Given the description of an element on the screen output the (x, y) to click on. 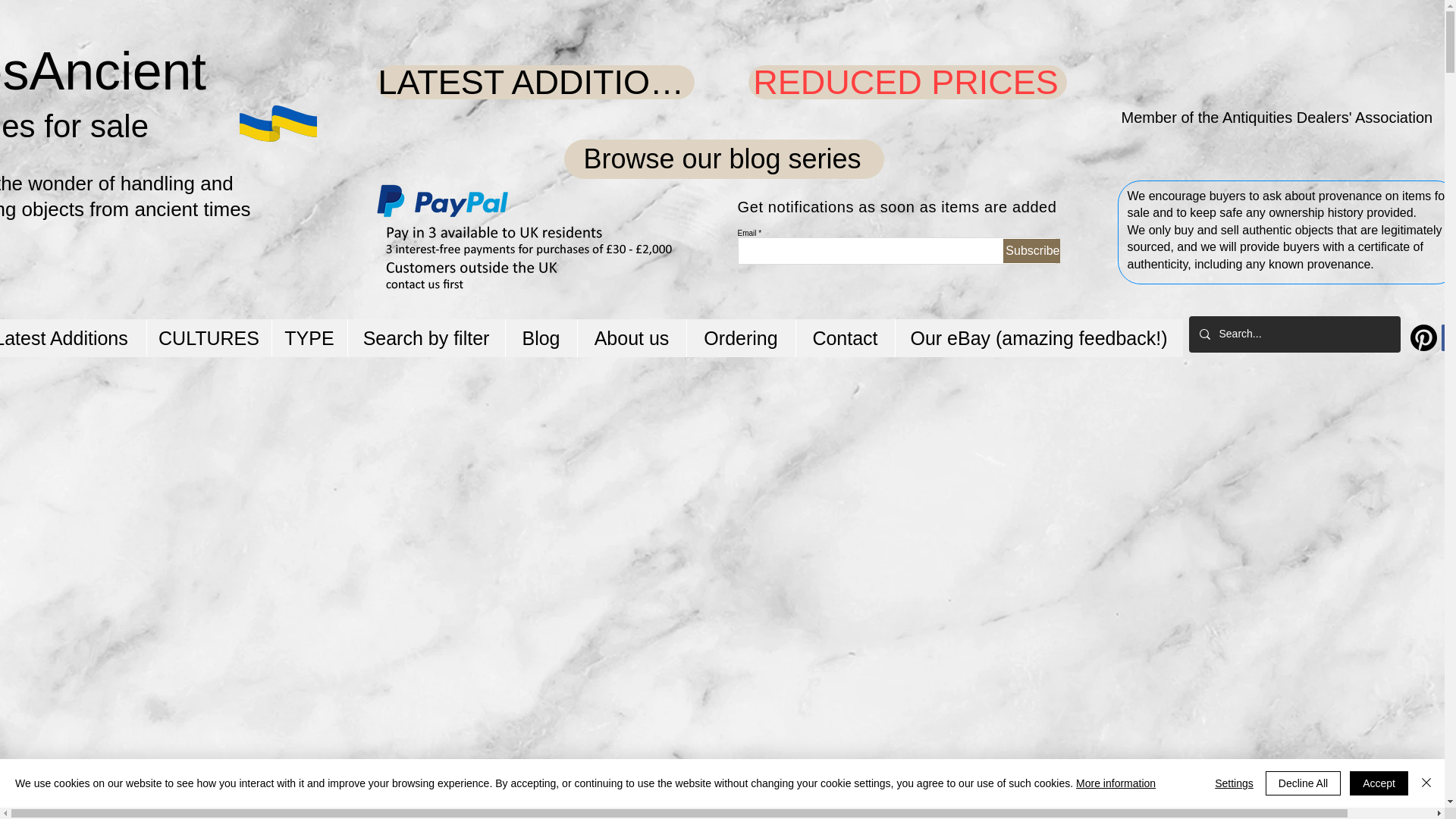
Search by filter (426, 338)
Subscribe (1031, 250)
Latest Additions (73, 338)
Browse our blog series (723, 159)
REDUCED PRICES (906, 82)
Contact (843, 338)
Blog (540, 338)
About us (630, 338)
LATEST ADDITIONS (534, 82)
